Given the description of an element on the screen output the (x, y) to click on. 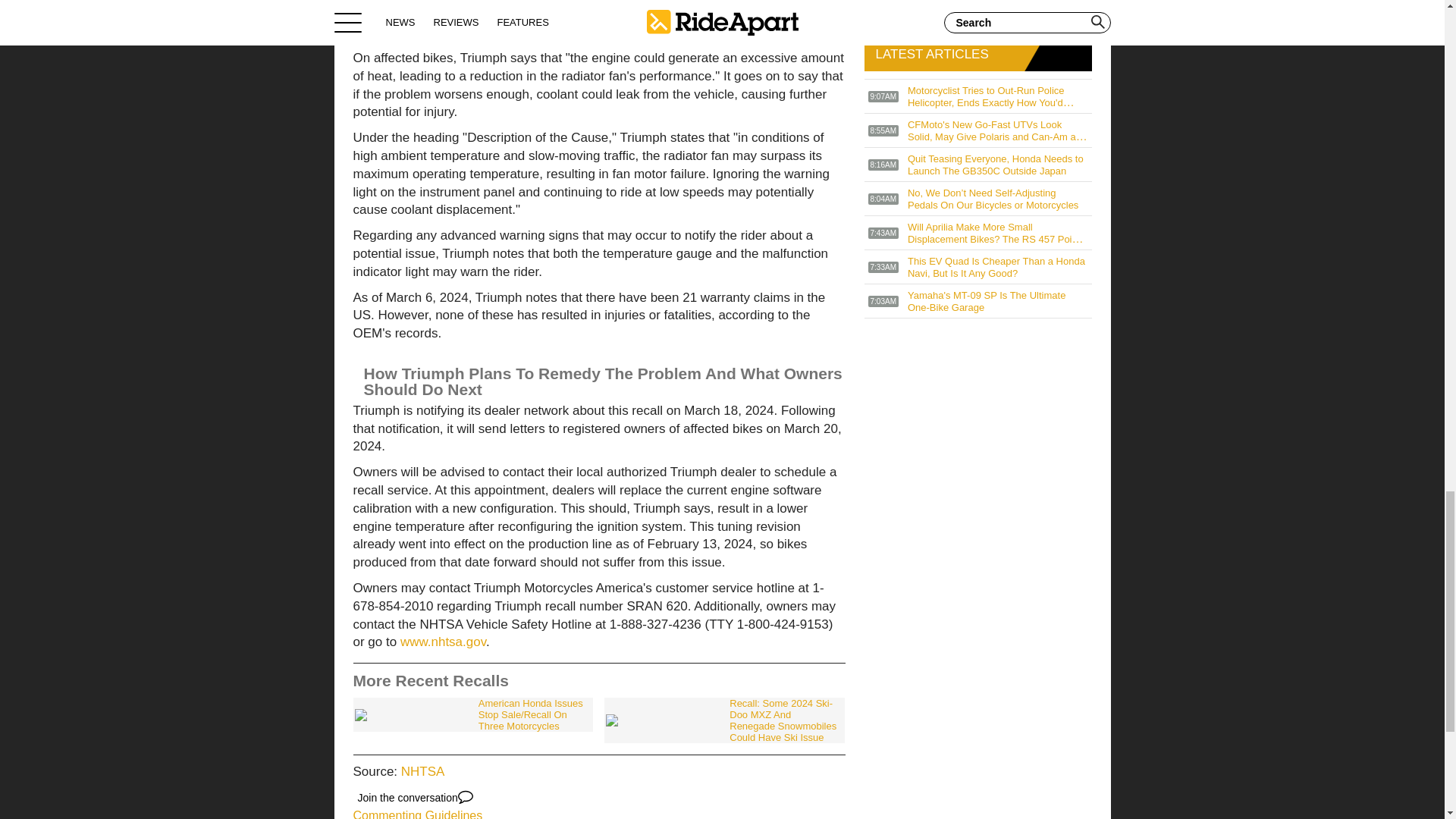
Commenting Guidelines (418, 814)
Join the conversation (415, 797)
NHTSA (423, 771)
www.nhtsa.gov (443, 641)
